Given the description of an element on the screen output the (x, y) to click on. 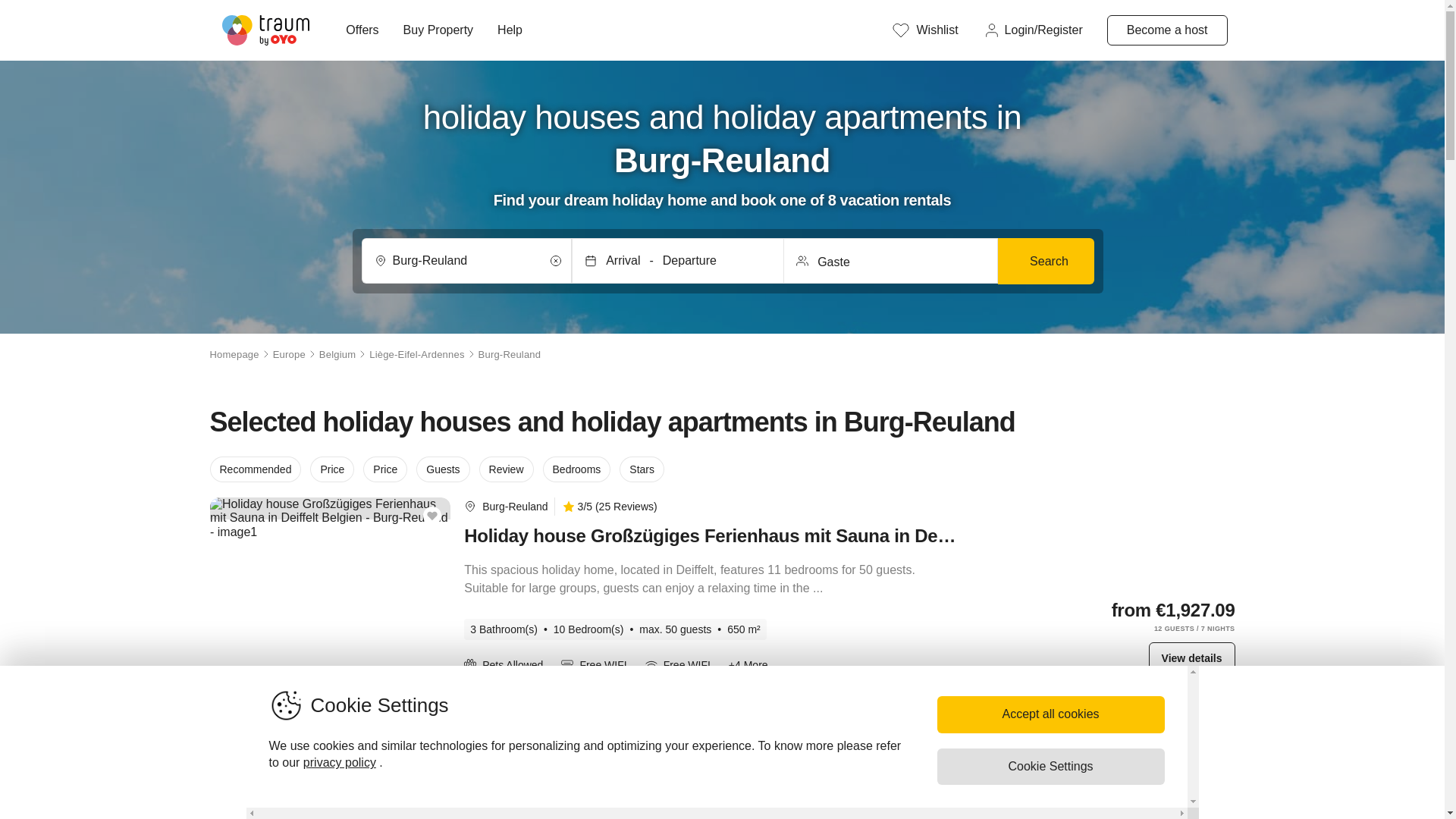
Offers (361, 30)
Search (1045, 261)
Stars (641, 469)
Homepage (234, 354)
Price (331, 469)
Burg-Reuland (467, 260)
Review (506, 469)
Burg-Reuland (514, 720)
Recommended (255, 469)
View details (1191, 658)
